Given the description of an element on the screen output the (x, y) to click on. 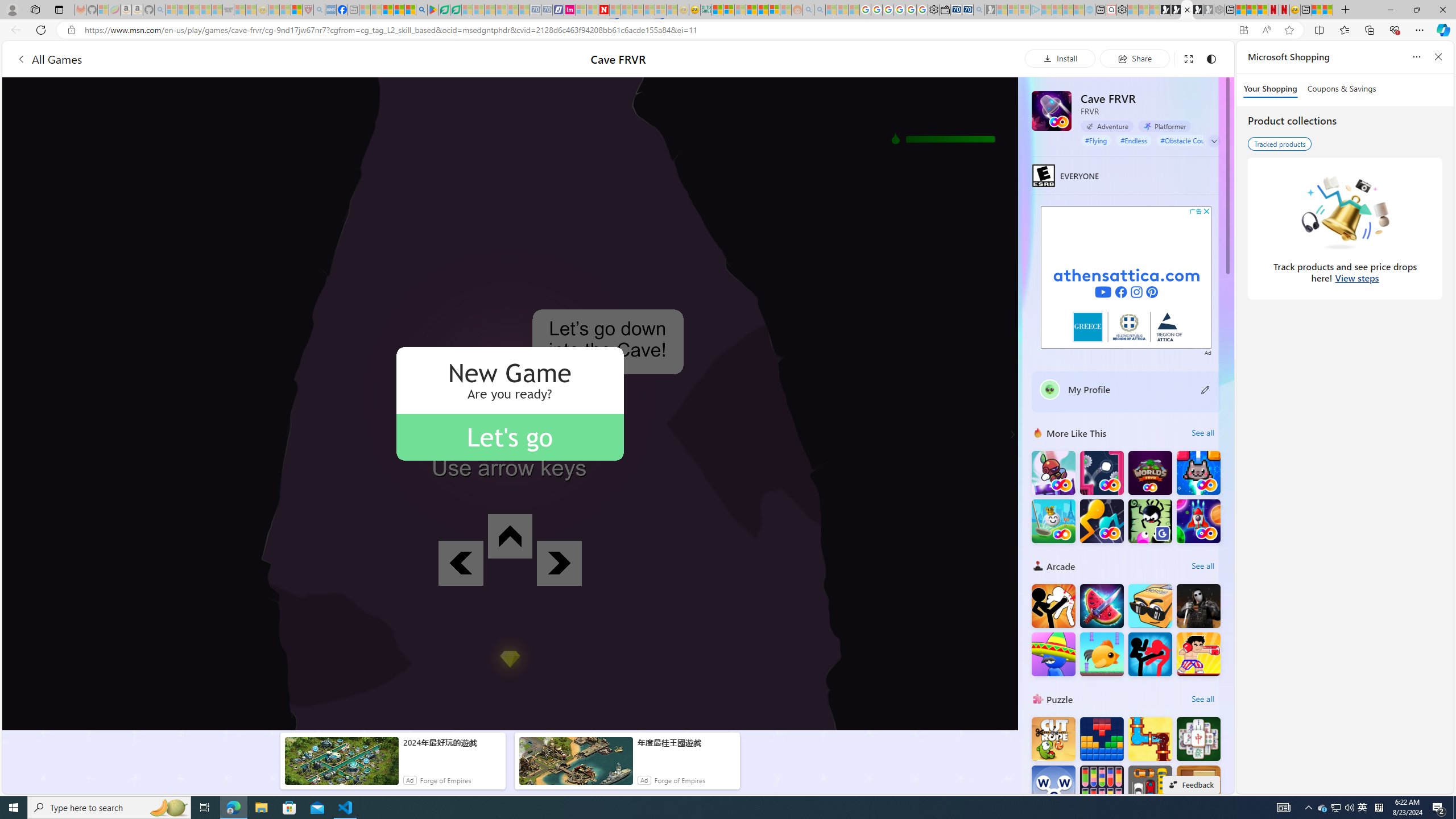
Play Cave FRVR in your browser | Games from Microsoft Start (1186, 9)
Cheap Car Rentals - Save70.com - Sleeping (535, 9)
Cut the Rope (1053, 738)
AutomationID: cbb (1206, 211)
Boxing fighter : Super punch (1198, 653)
Recipes - MSN - Sleeping (273, 9)
Cave FRVR (1051, 110)
